Given the description of an element on the screen output the (x, y) to click on. 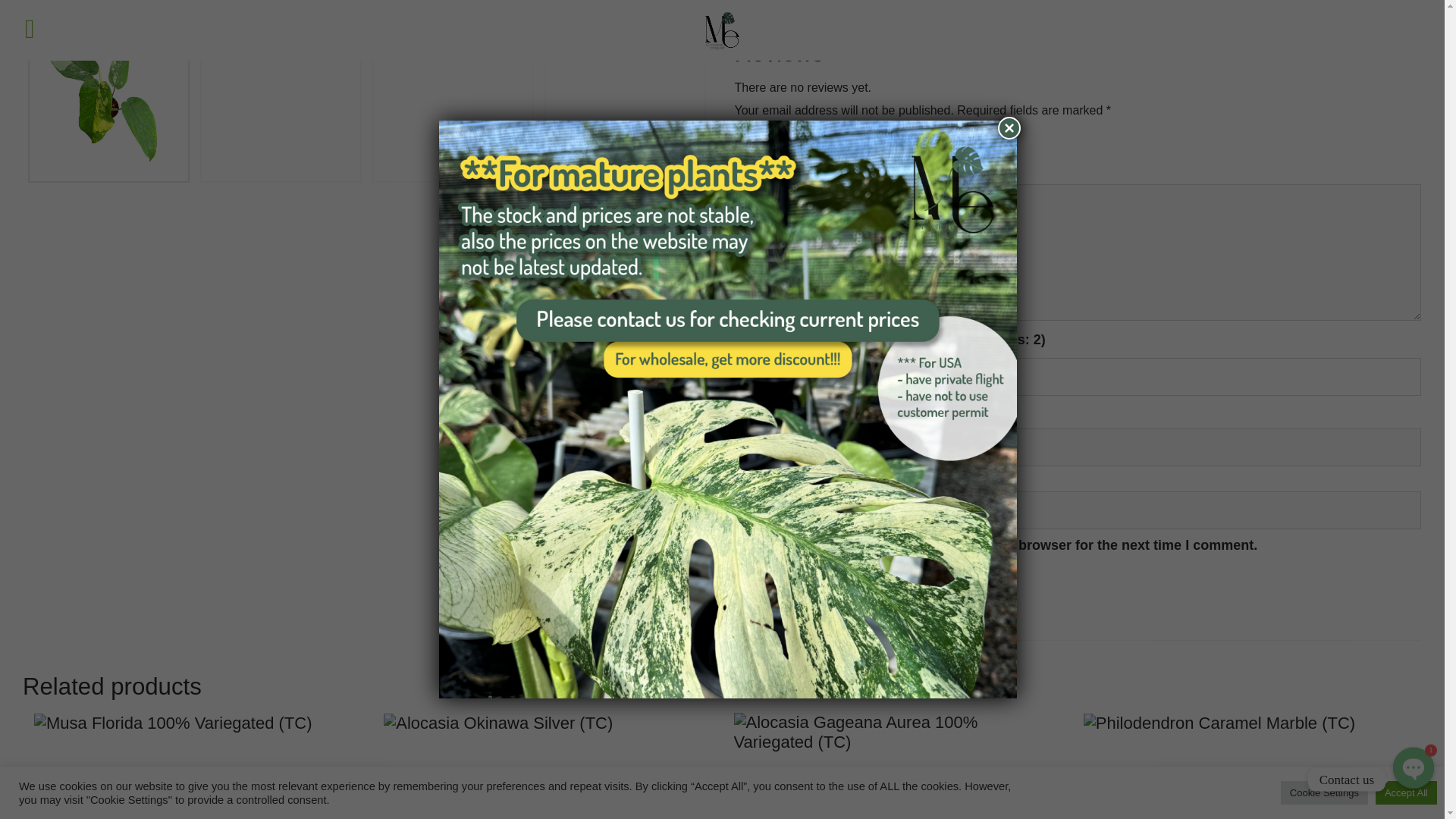
Syngonium Chiapense Variegated 1 (367, 6)
